Given the description of an element on the screen output the (x, y) to click on. 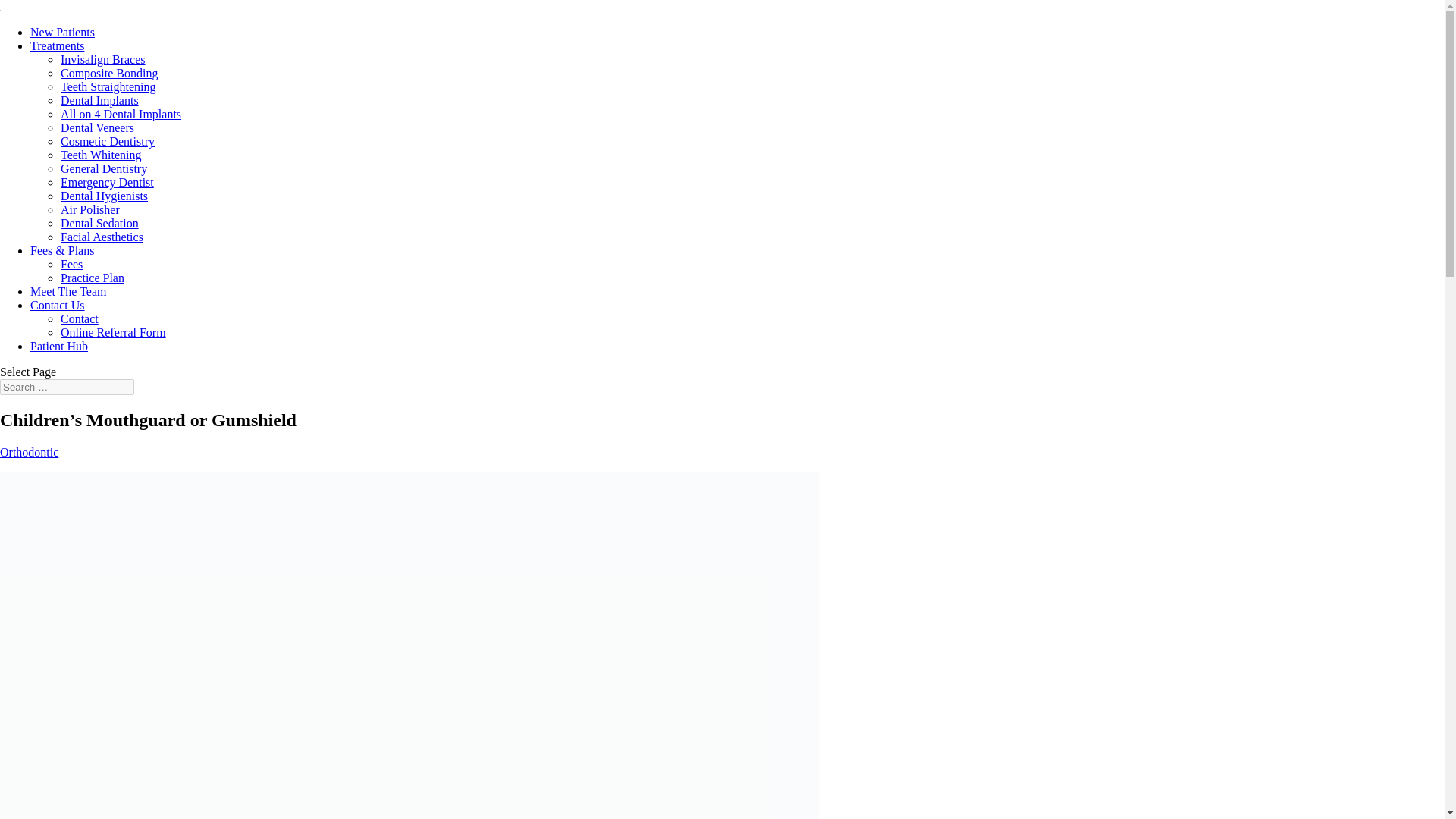
Patient Hub (58, 345)
Search for: (66, 386)
Teeth Whitening (101, 154)
Teeth Straightening (108, 86)
Air Polisher (90, 209)
New Patients (62, 31)
Meet The Team (68, 291)
Online Referral Form (113, 332)
Dental Sedation (99, 223)
Dental Hygienists (104, 195)
Dental Veneers (97, 127)
Facial Aesthetics (101, 236)
Contact (80, 318)
Treatments (57, 45)
Practice Plan (92, 277)
